Given the description of an element on the screen output the (x, y) to click on. 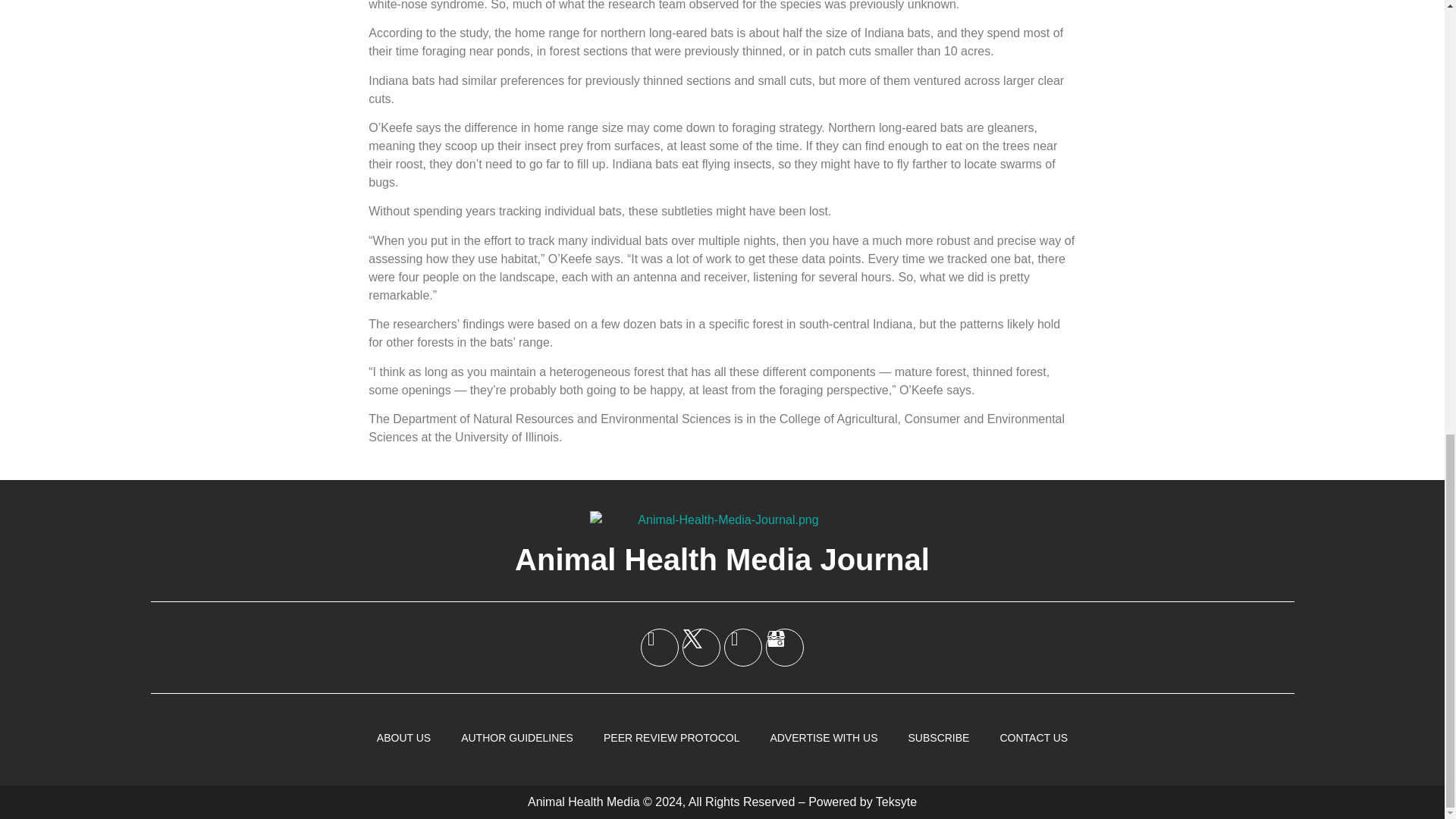
Animal-Health-Media-Journal.png (722, 520)
Web design services (896, 801)
